Given the description of an element on the screen output the (x, y) to click on. 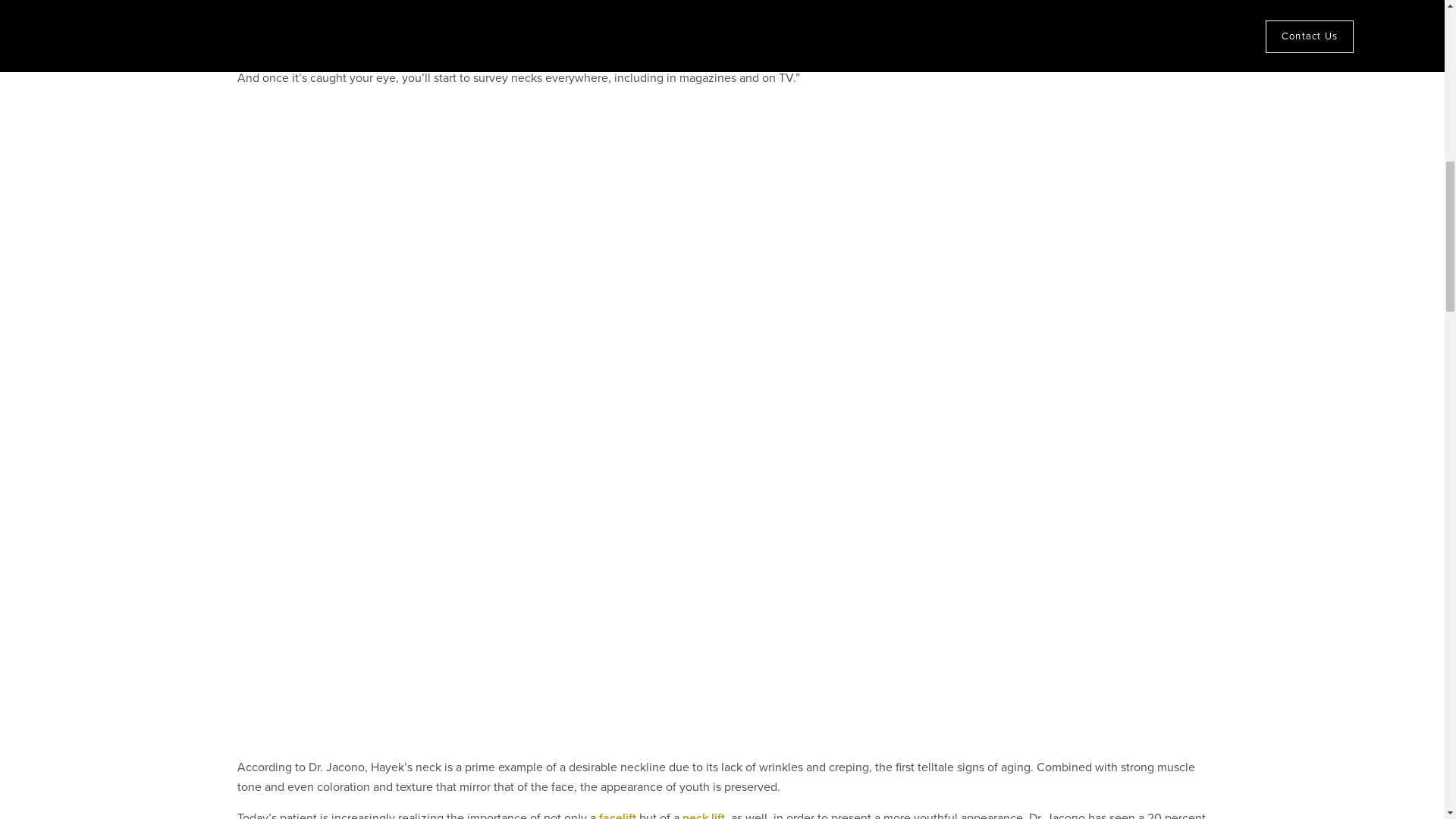
neck lift (703, 814)
